Given the description of an element on the screen output the (x, y) to click on. 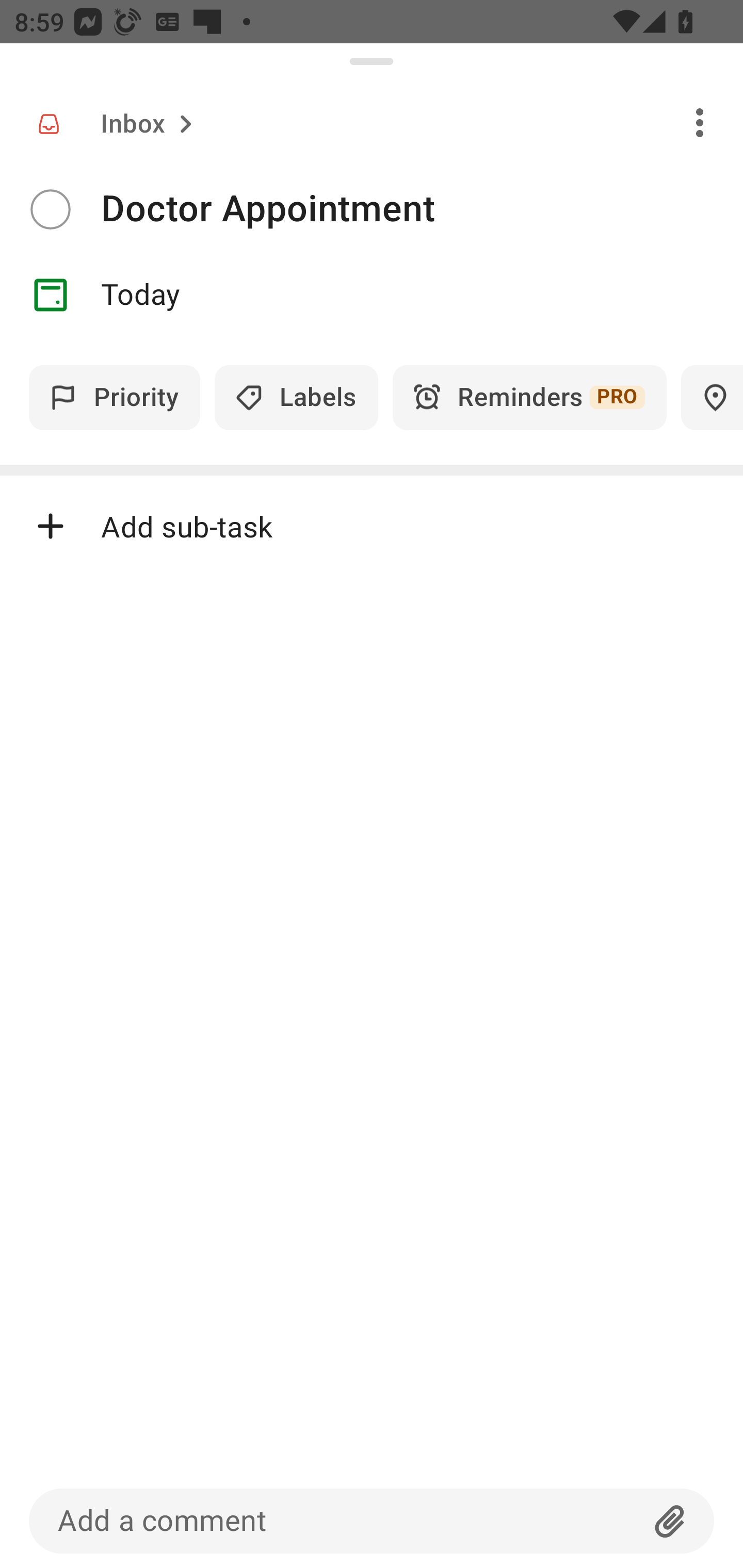
Overflow menu (699, 122)
Complete (50, 209)
Doctor Appointment​ (422, 209)
Date Today (371, 295)
Priority (113, 397)
Labels (296, 397)
Reminders PRO (529, 397)
Locations PRO (712, 397)
Add sub-task (371, 525)
Add a comment Attachment (371, 1520)
Attachment (670, 1520)
